Given the description of an element on the screen output the (x, y) to click on. 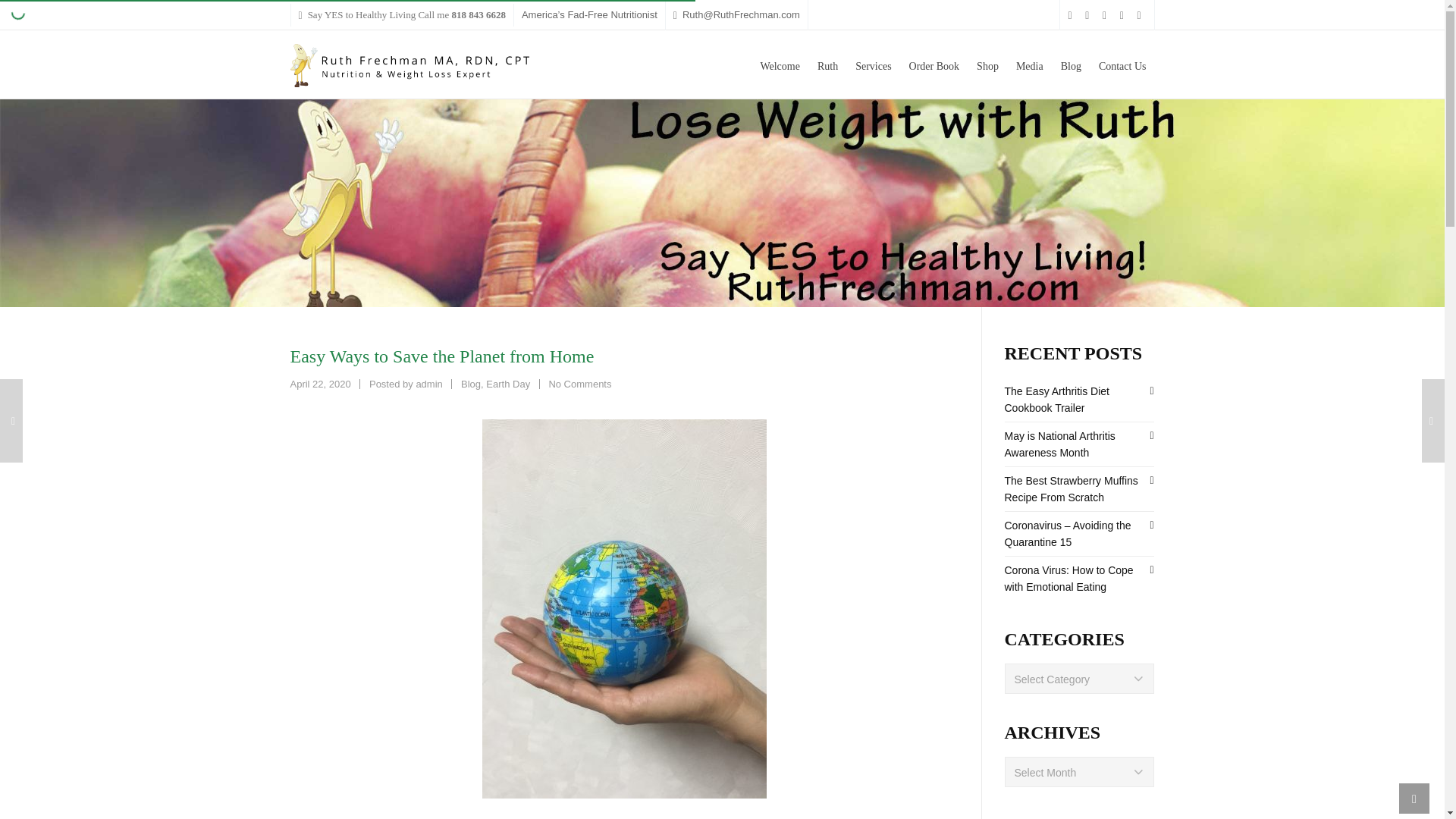
Contact Us (1122, 64)
admin (428, 383)
Order Book (934, 64)
No Comments (579, 383)
Posts by admin (428, 383)
Blog (470, 383)
Earth Day (507, 383)
No Comments (579, 383)
